Given the description of an element on the screen output the (x, y) to click on. 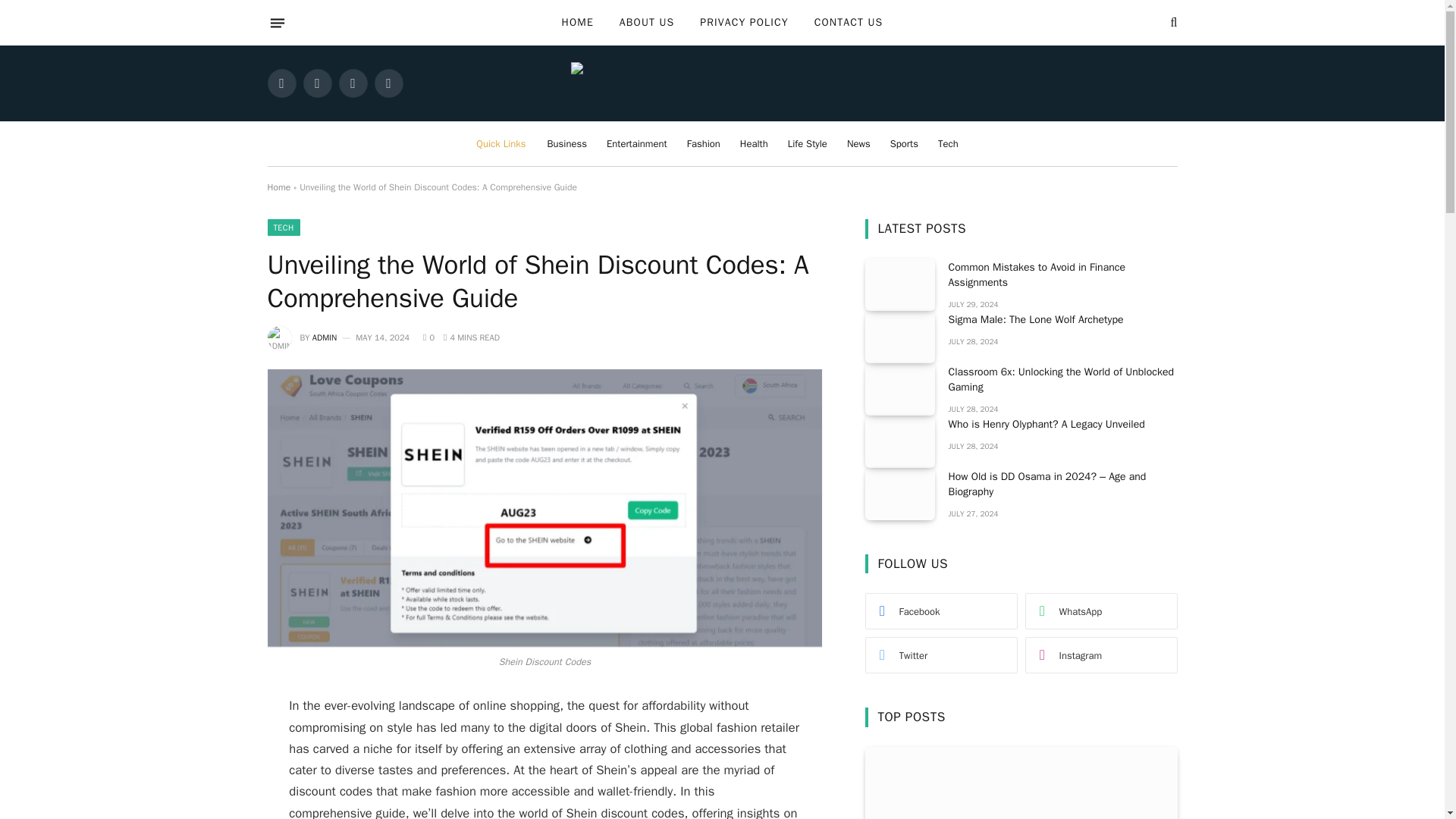
Tech (948, 143)
Home (277, 186)
Health (753, 143)
ADMIN (325, 337)
Life Style (807, 143)
Posts by admin (325, 337)
Business (566, 143)
Expresswave (721, 83)
PRIVACY POLICY (743, 22)
Sports (904, 143)
Fashion (703, 143)
HOME (577, 22)
Instagram (351, 82)
Entertainment (636, 143)
